Given the description of an element on the screen output the (x, y) to click on. 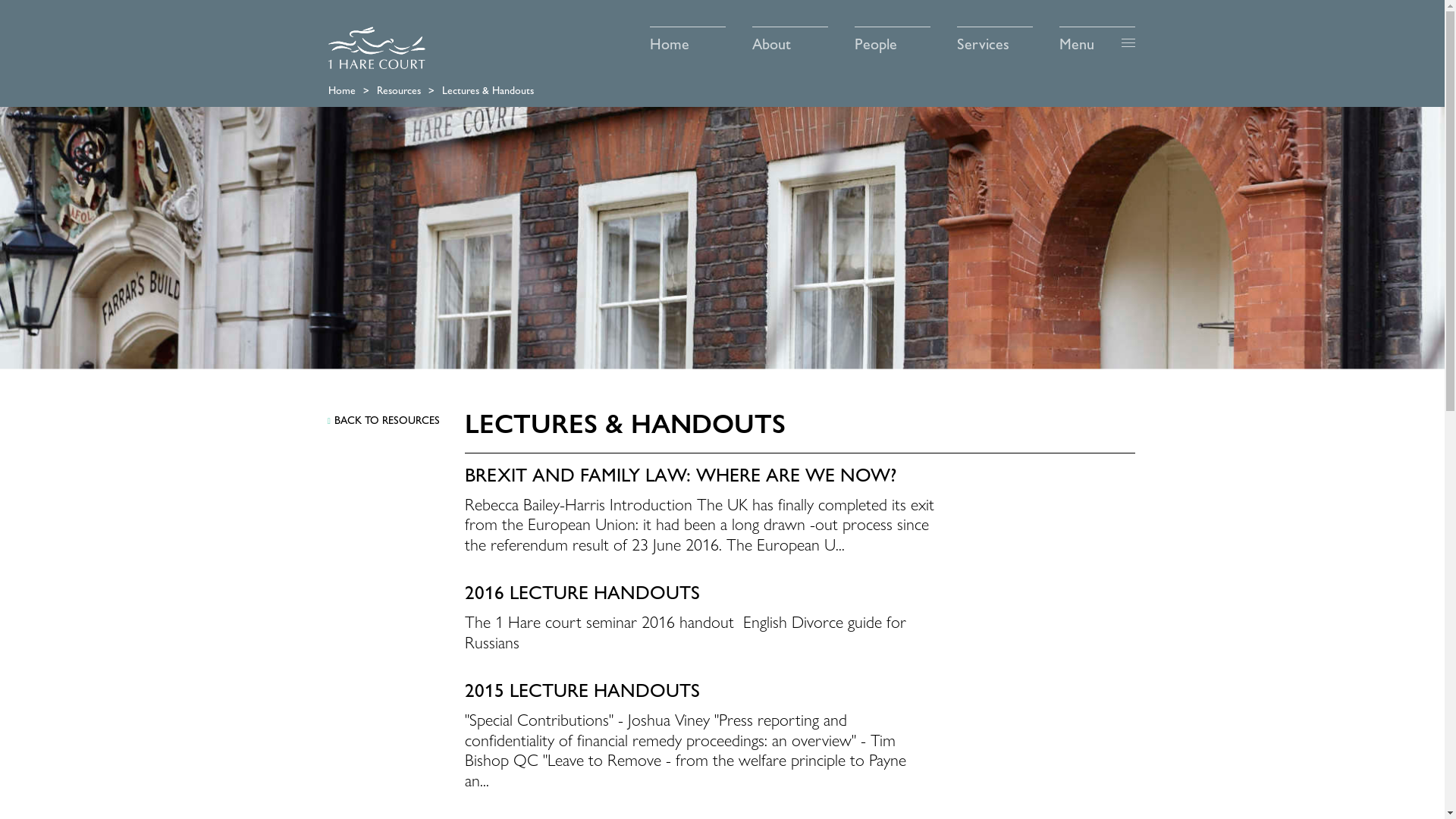
Resources Element type: text (398, 89)
Home Element type: text (687, 38)
Services Element type: text (994, 38)
Lectures & Handouts Element type: text (487, 89)
People Element type: text (892, 38)
Home Element type: text (341, 89)
About Element type: text (790, 38)
